Given the description of an element on the screen output the (x, y) to click on. 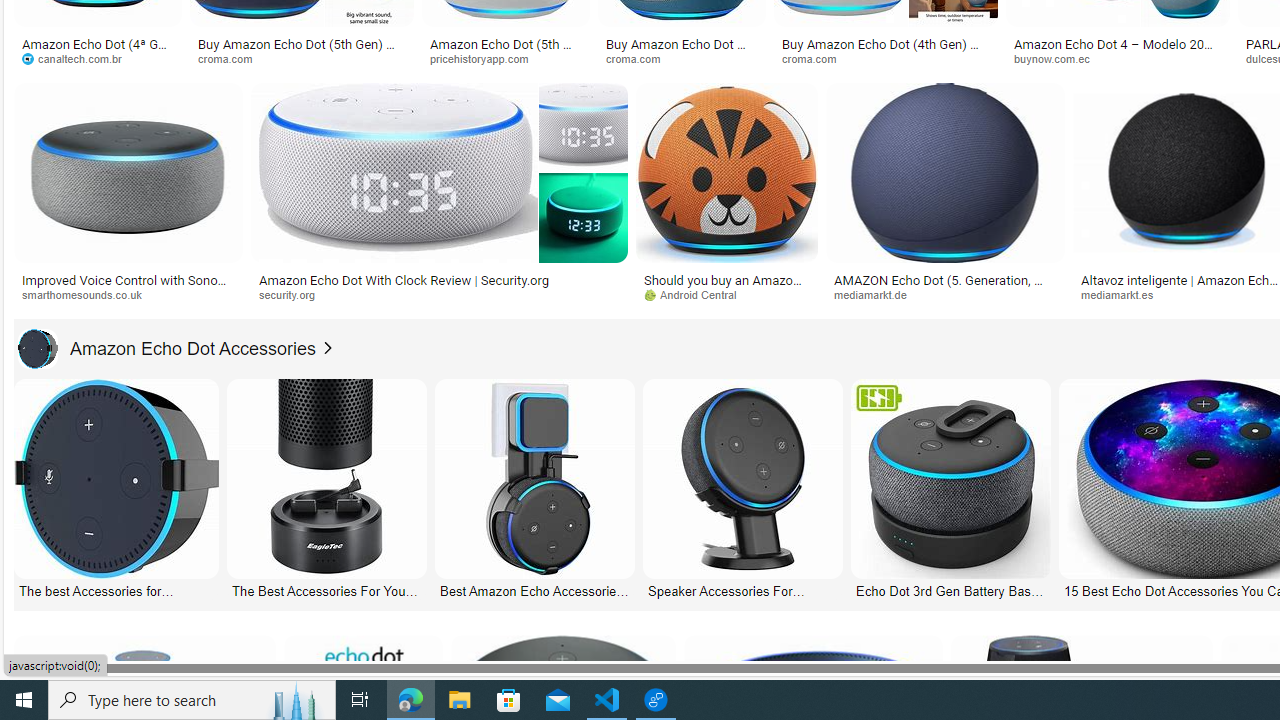
mediamarkt.de (945, 295)
mediamarkt.es (1124, 294)
Android Central (726, 295)
Improved Voice Control with Sonos & Alexa Echo devices (128, 286)
pricehistoryapp.com (486, 57)
canaltech.com.br (97, 58)
Amazon Echo Dot With Clock Review | Security.org (438, 279)
